Given the description of an element on the screen output the (x, y) to click on. 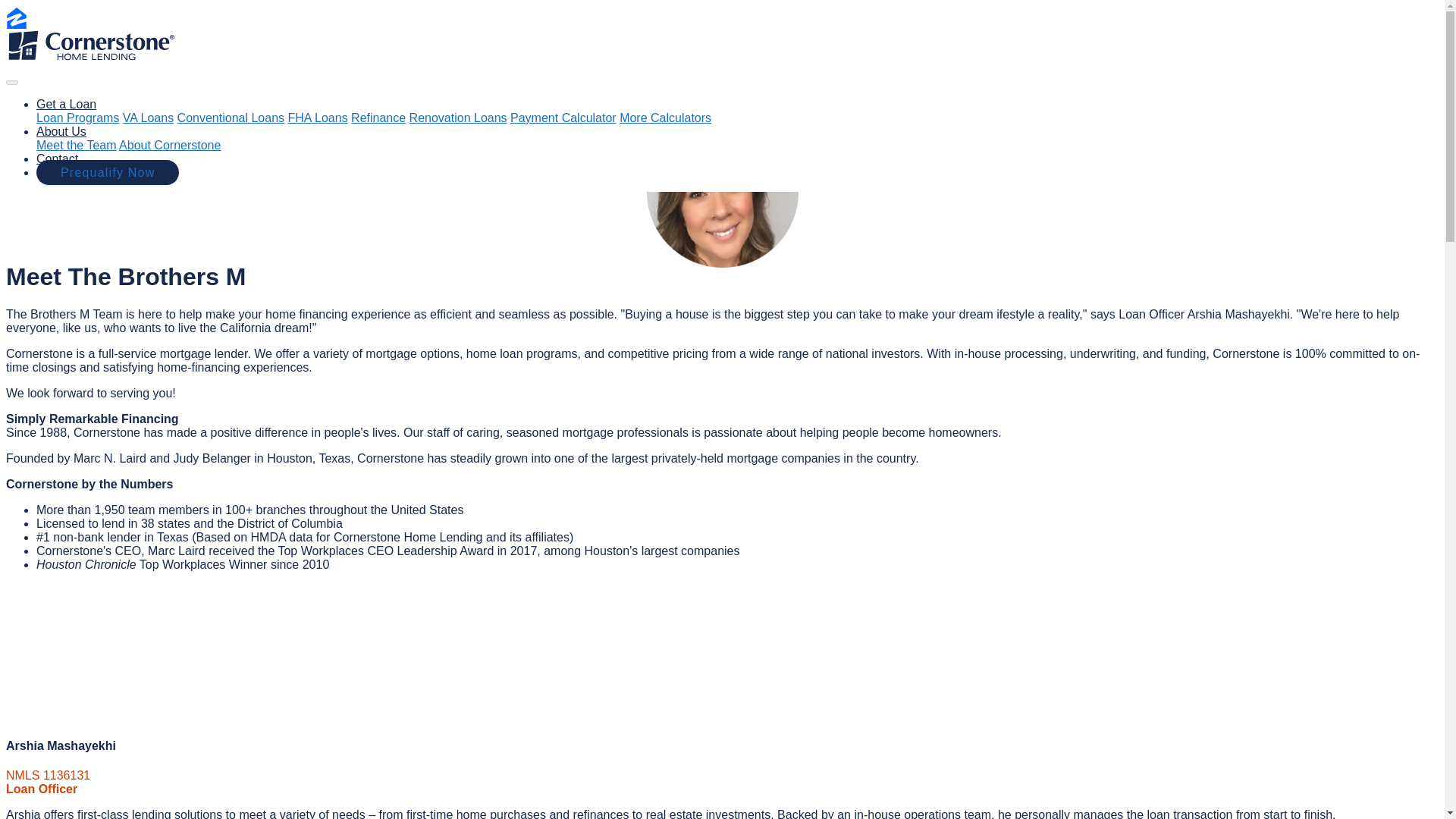
Conventional Loans (230, 117)
Meet the Team (76, 144)
FHA Loans (317, 117)
Contact (57, 158)
Get a Loan (66, 103)
About Cornerstone (170, 144)
VA Loans (147, 117)
About Us (60, 131)
Renovation Loans (457, 117)
Loan Programs (77, 117)
Refinance (378, 117)
More Calculators (665, 117)
Payment Calculator (563, 117)
Prequalify Now (107, 172)
